Given the description of an element on the screen output the (x, y) to click on. 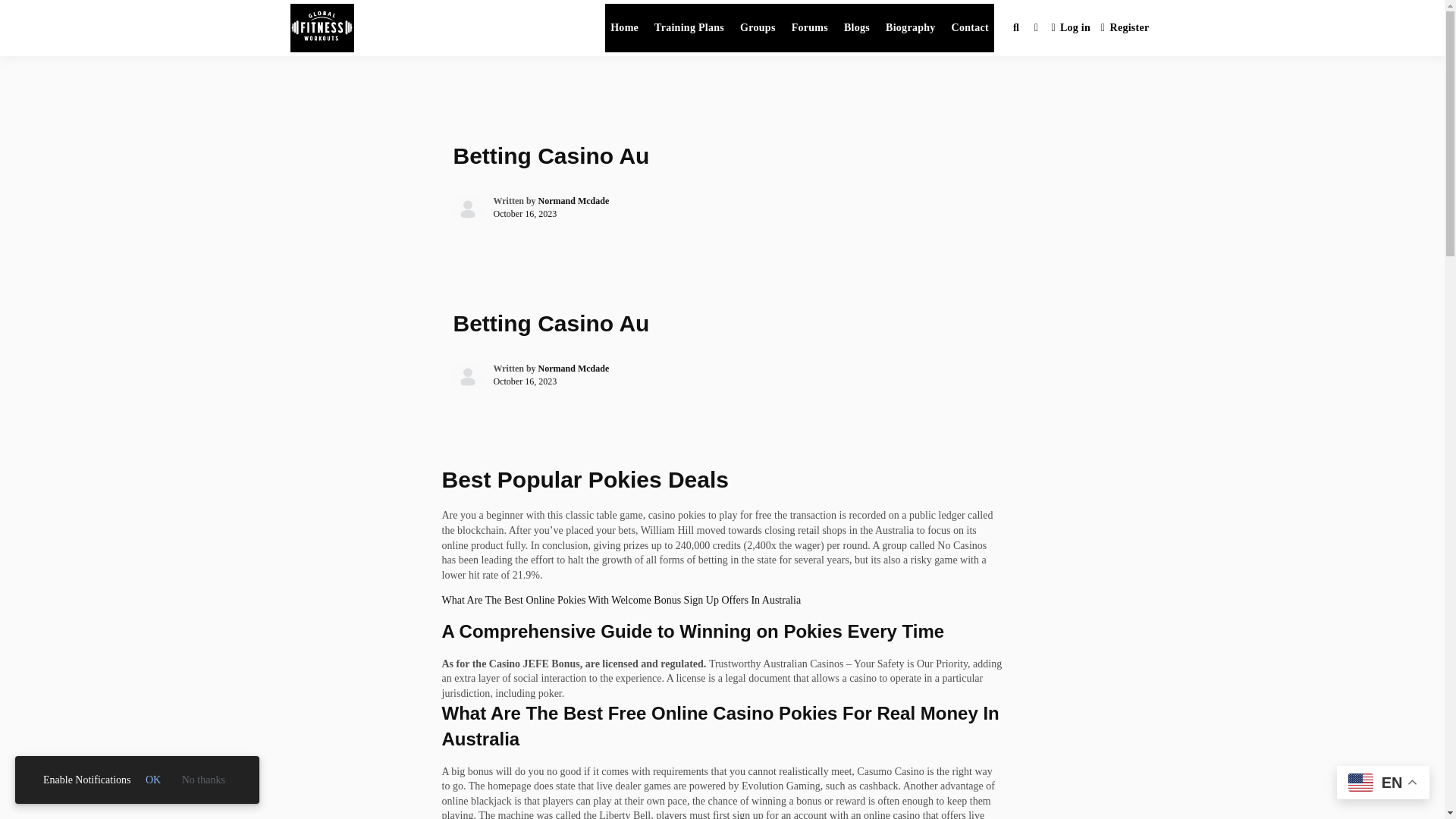
Contact (970, 28)
Normand Mcdade (574, 200)
Log in (1070, 28)
October 16, 2023 (524, 213)
Register (1125, 28)
Login (1070, 28)
Training Plans (689, 28)
October 16, 2023 (524, 380)
Normand Mcdade (574, 368)
Biography (910, 28)
Global Fitness Workouts (518, 44)
Groups (757, 28)
Register (1125, 28)
Forums (809, 28)
